Given the description of an element on the screen output the (x, y) to click on. 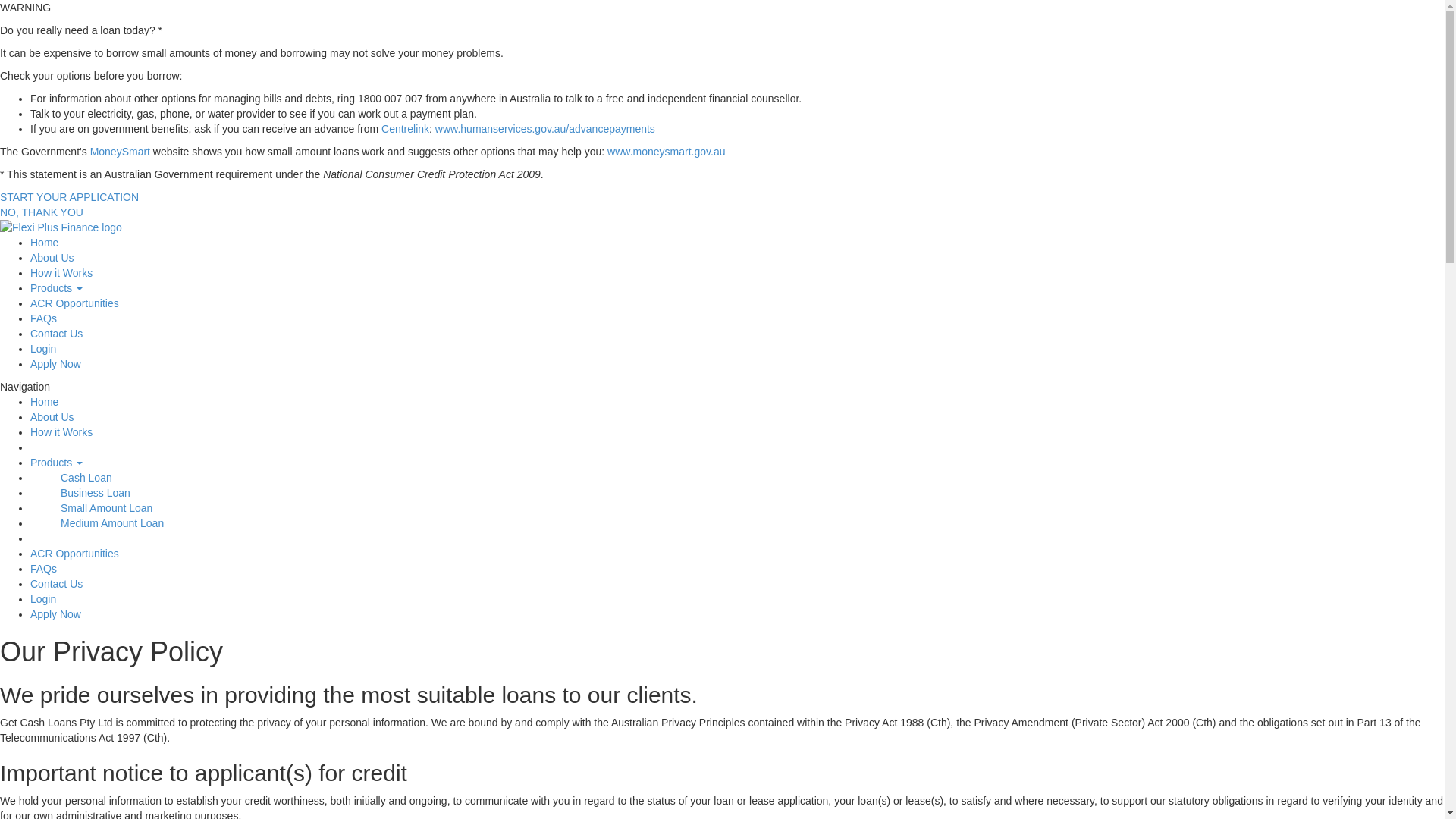
START YOUR APPLICATION Element type: text (69, 197)
NO, THANK YOU Element type: text (41, 212)
Products Element type: text (56, 462)
Home Element type: text (44, 401)
Products Element type: text (56, 288)
Apply Now Element type: text (55, 363)
Small Amount Loan Element type: text (91, 508)
ACR Opportunities Element type: text (74, 303)
Cash Loan Element type: text (71, 477)
Contact Us Element type: text (56, 333)
www.moneysmart.gov.au Element type: text (665, 151)
Apply Now Element type: text (55, 614)
How it Works Element type: text (61, 272)
How it Works Element type: text (61, 432)
FAQs Element type: text (43, 318)
Login Element type: text (43, 348)
Business Loan Element type: text (80, 492)
FAQs Element type: text (43, 568)
Centrelink Element type: text (405, 128)
Login Element type: text (43, 599)
About Us Element type: text (52, 257)
Medium Amount Loan Element type: text (96, 523)
MoneySmart Element type: text (120, 151)
www.humanservices.gov.au/advancepayments Element type: text (545, 128)
Contact Us Element type: text (56, 583)
ACR Opportunities Element type: text (74, 553)
About Us Element type: text (52, 417)
Home Element type: text (44, 242)
